Given the description of an element on the screen output the (x, y) to click on. 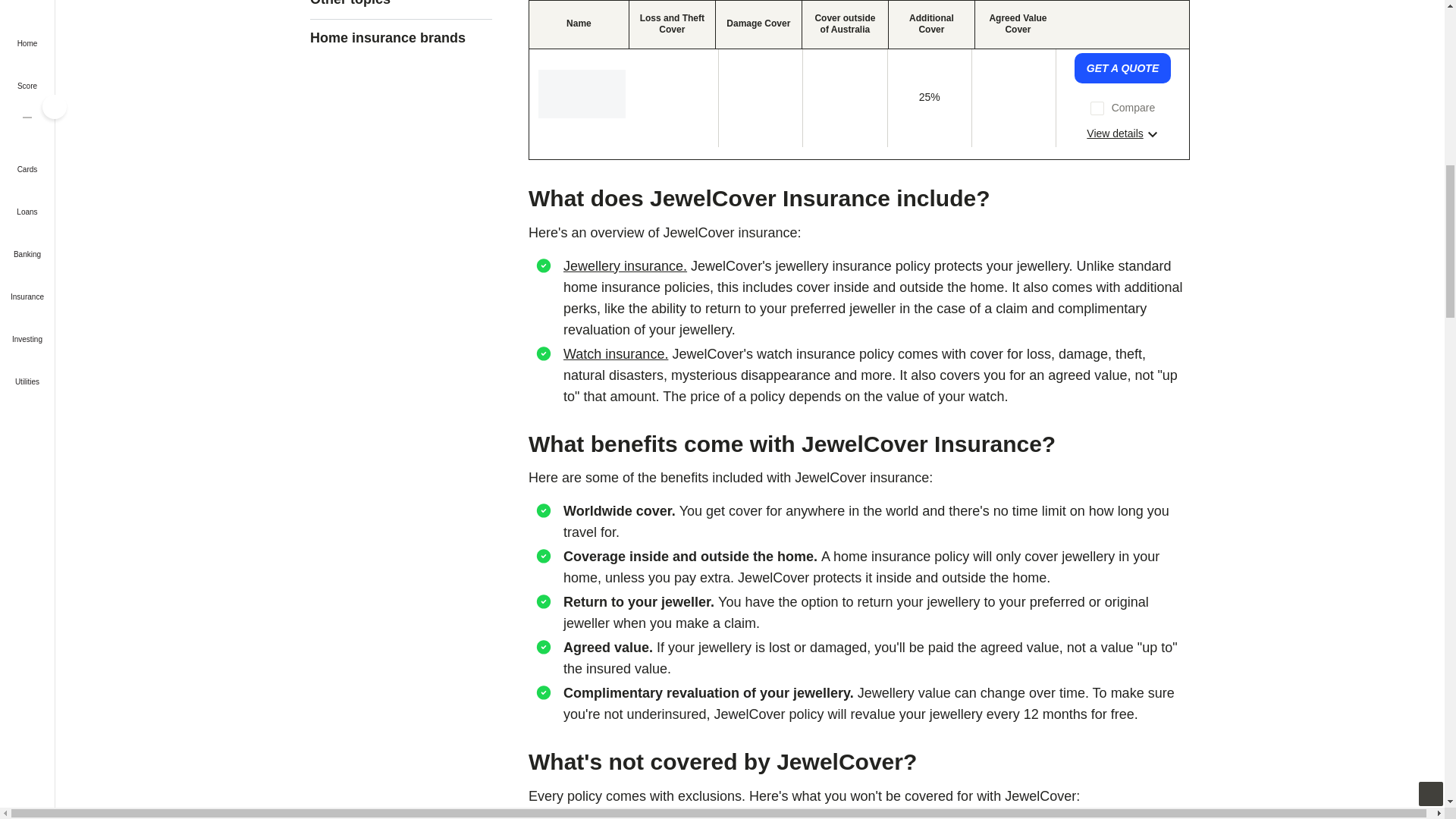
Read More About The JewelCover Jewellery Insurance (1122, 133)
Apply Now For The JewelCover Jewellery Insurance (1122, 68)
